Given the description of an element on the screen output the (x, y) to click on. 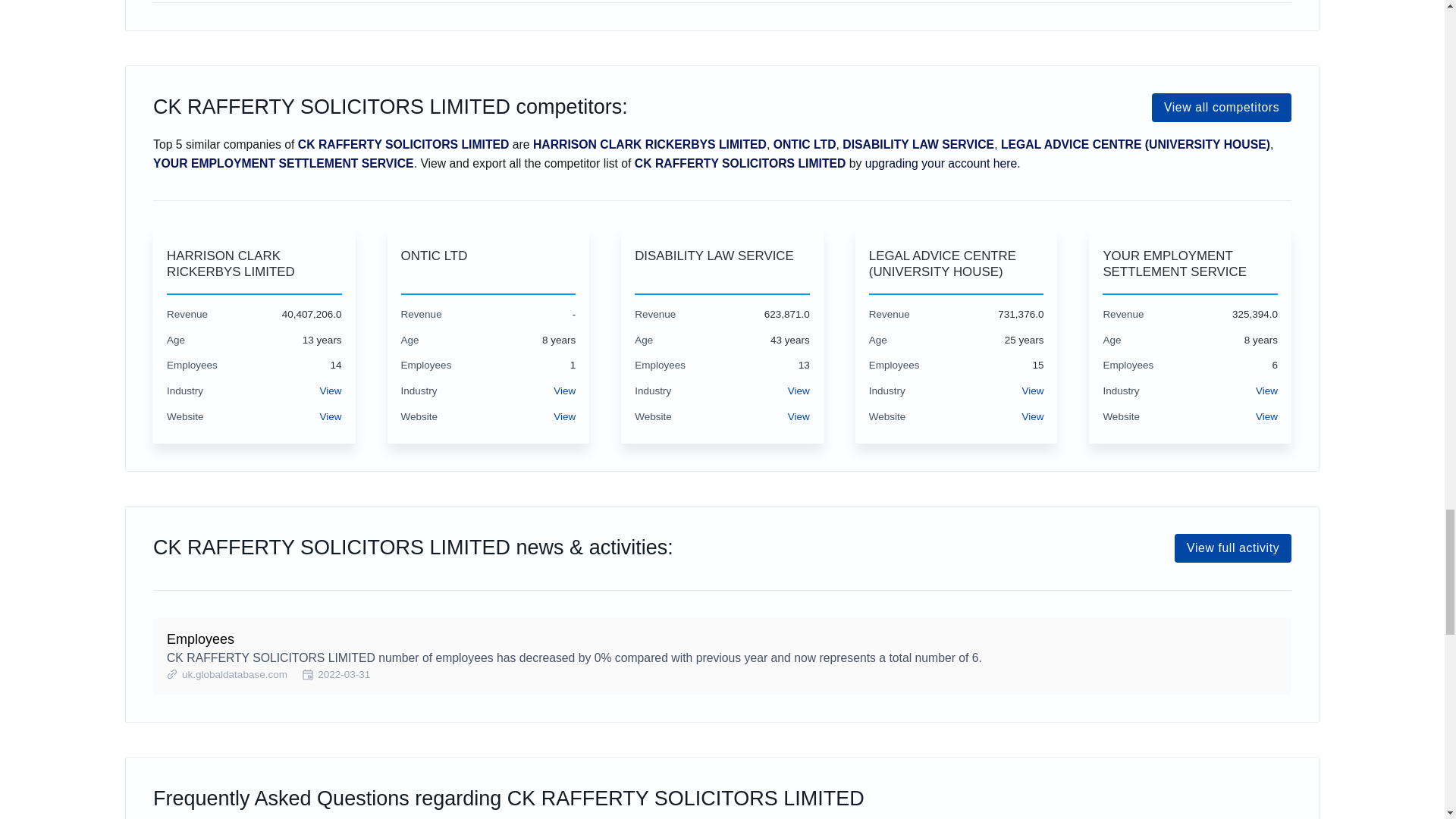
YOUR EMPLOYMENT SETTLEMENT SERVICE (1190, 264)
HARRISON CLARK RICKERBYS LIMITED (254, 264)
ONTIC LTD (488, 264)
DISABILITY LAW SERVICE (721, 264)
